Given the description of an element on the screen output the (x, y) to click on. 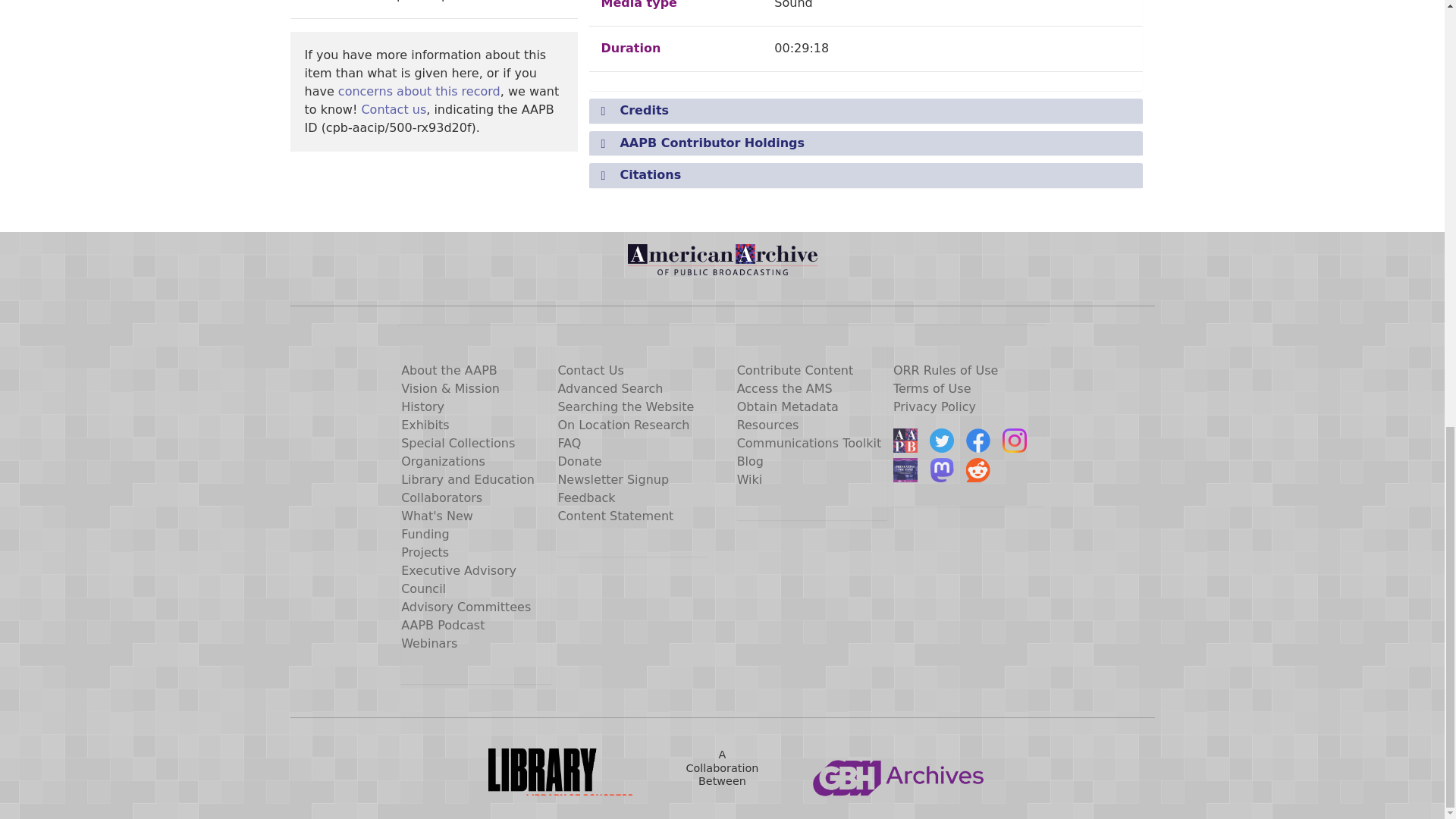
Read the AAPB Blog (905, 440)
Follow us on Instagram (1014, 440)
Follow us on Mastodon (941, 469)
GBH Archives (899, 774)
Listen to our Podcast (905, 469)
Like us on Facebook (978, 440)
Follow us on Twitter (941, 440)
The Library of Congress (545, 774)
Join us on reddit (978, 469)
